Given the description of an element on the screen output the (x, y) to click on. 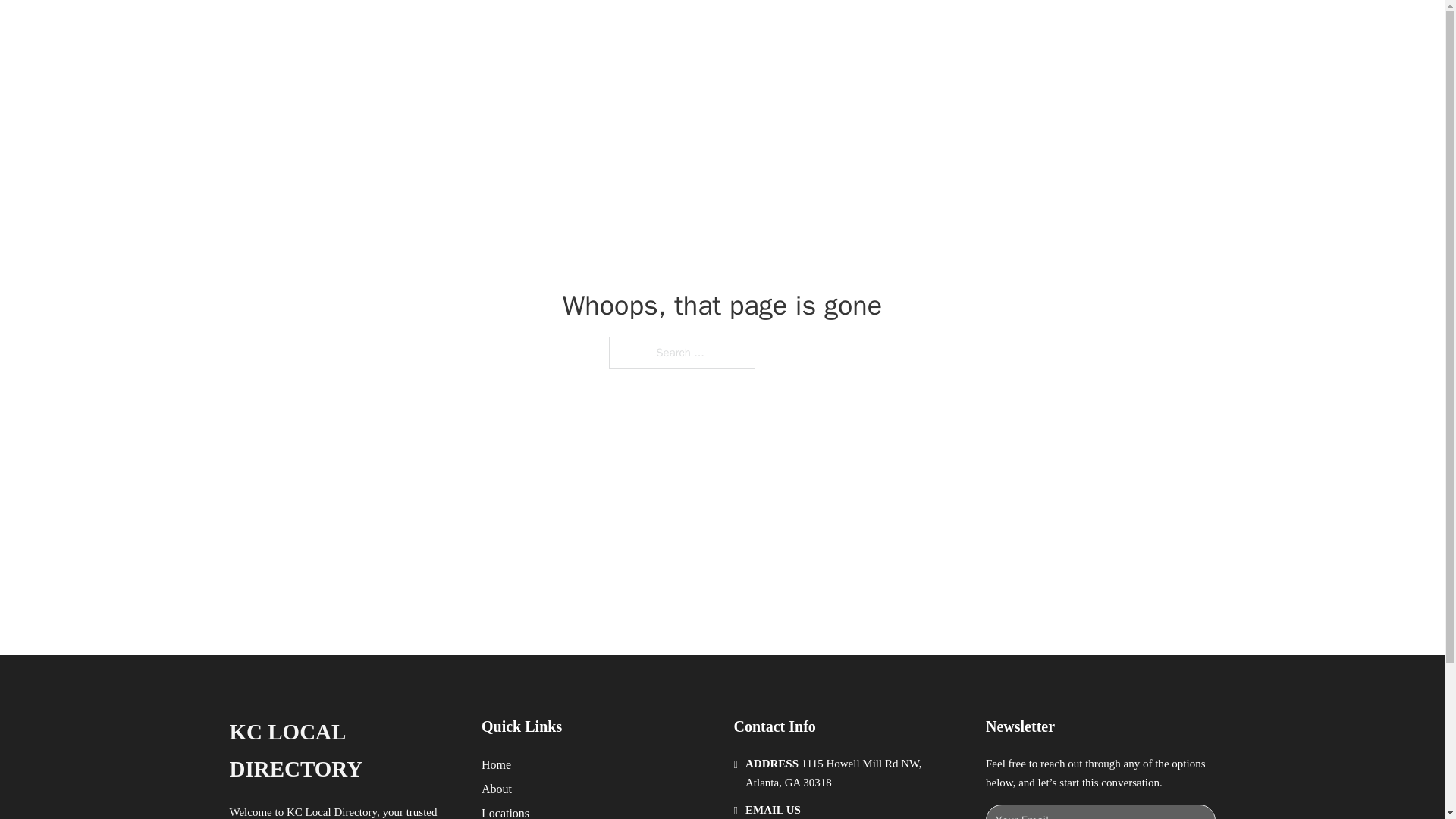
LOCATIONS (990, 29)
Locations (505, 811)
KC LOCAL DIRECTORY (419, 28)
KC LOCAL DIRECTORY (343, 750)
Home (496, 764)
HOME (919, 29)
About (496, 788)
